Given the description of an element on the screen output the (x, y) to click on. 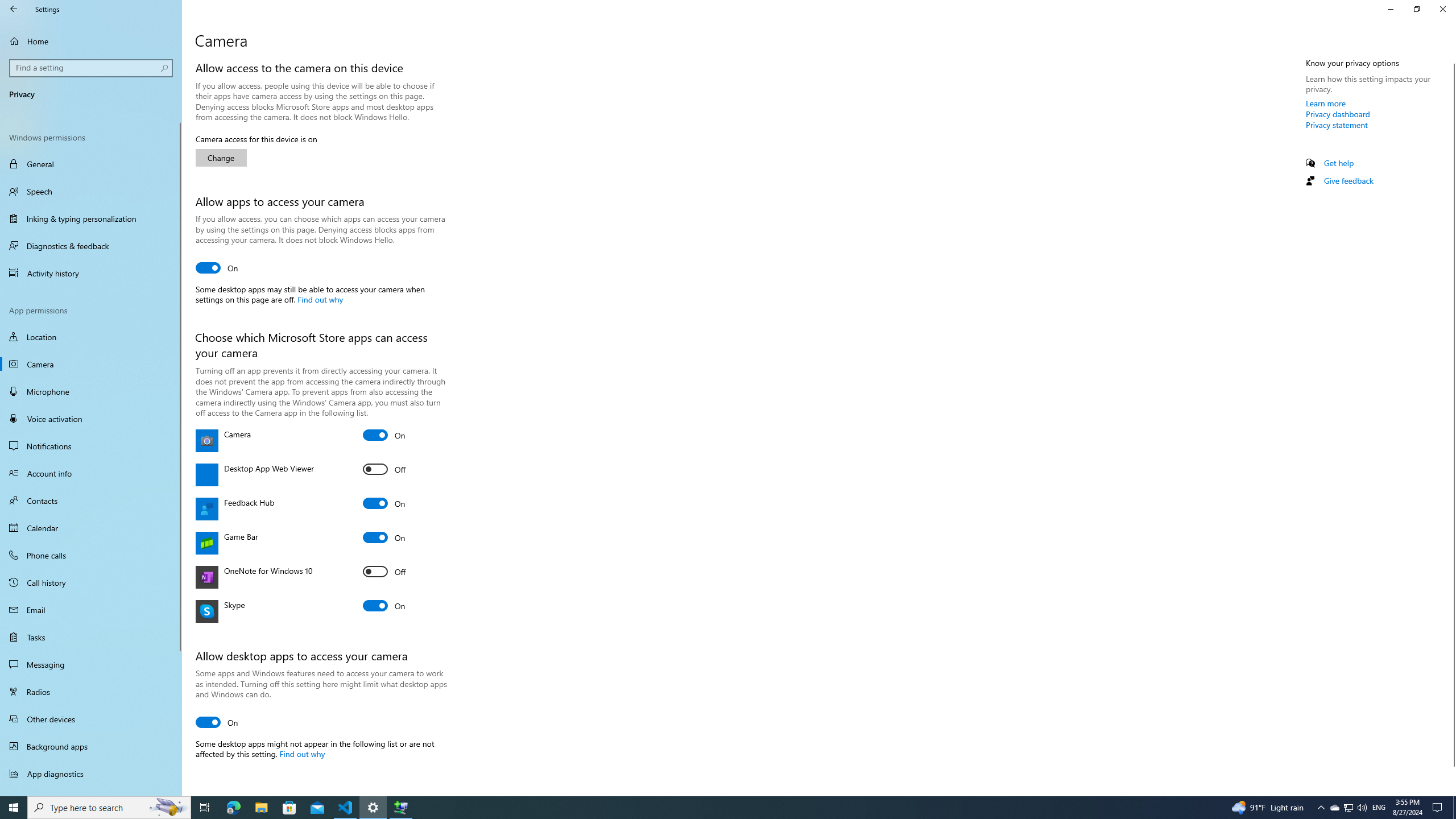
Voice activation (91, 418)
Game Bar (384, 537)
Vertical Large Increase (1451, 776)
Activity history (91, 272)
Location (91, 336)
Get help (1338, 162)
Inking & typing personalization (91, 217)
Diagnostics & feedback (91, 245)
